Given the description of an element on the screen output the (x, y) to click on. 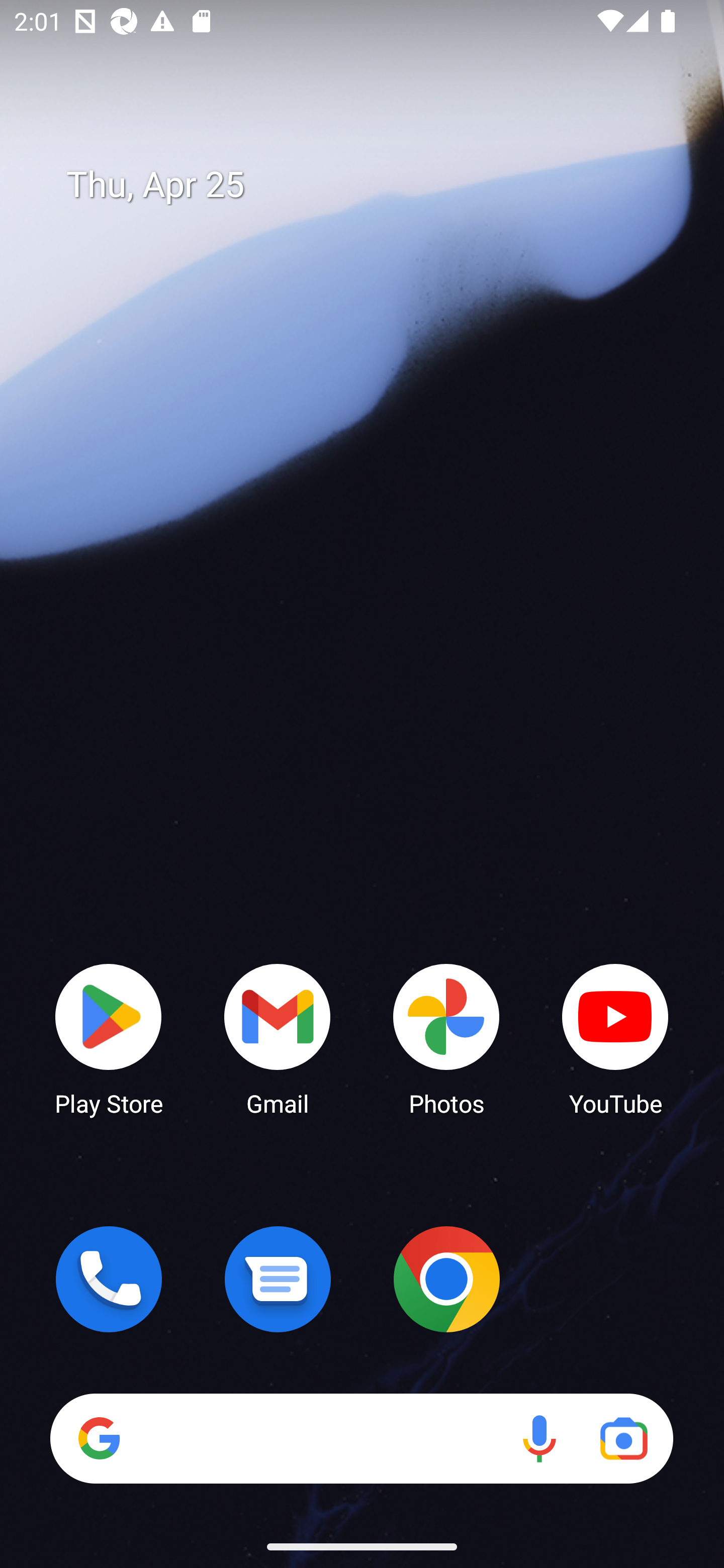
Thu, Apr 25 (375, 184)
Play Store (108, 1038)
Gmail (277, 1038)
Photos (445, 1038)
YouTube (615, 1038)
Phone (108, 1279)
Messages (277, 1279)
Chrome (446, 1279)
Search Voice search Google Lens (361, 1438)
Voice search (539, 1438)
Google Lens (623, 1438)
